Given the description of an element on the screen output the (x, y) to click on. 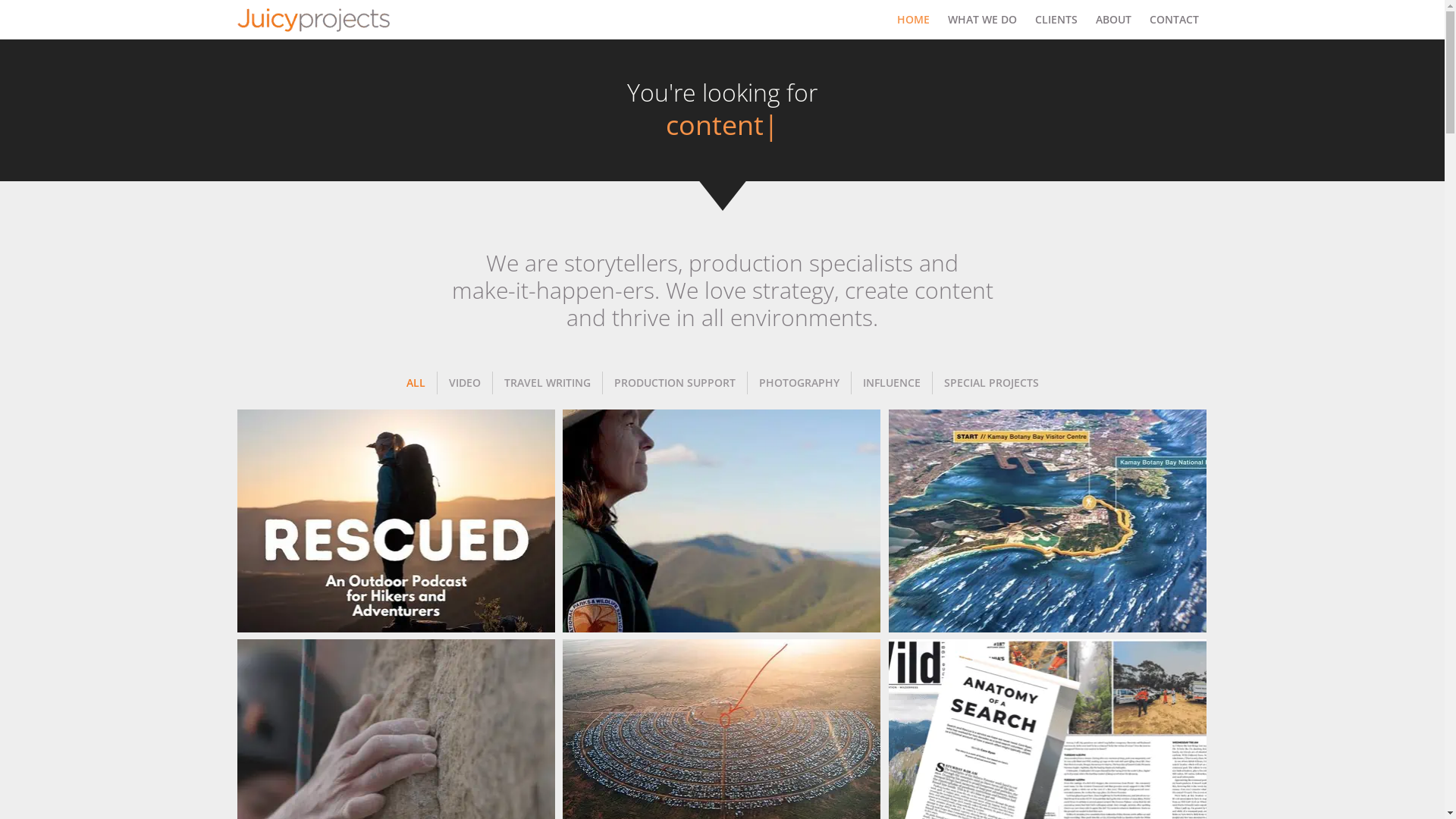
ALL Element type: text (415, 382)
Screen-Shot-2023-08-29-at-9.13.32-am-1 Element type: hover (721, 520)
PRODUCTION SUPPORT Element type: text (674, 382)
HOME Element type: text (912, 19)
Screen Shot 2023-08-29 at 10.32.12 am Element type: hover (1047, 520)
CONTACT Element type: text (1174, 19)
VIDEO Element type: text (464, 382)
Juicy Projects Element type: hover (312, 19)
CLIENTS Element type: text (1055, 19)
PHOTOGRAPHY Element type: text (799, 382)
Rescued Podcast - Rescued Cover Element type: hover (395, 520)
TRAVEL WRITING Element type: text (547, 382)
ABOUT Element type: text (1112, 19)
INFLUENCE Element type: text (890, 382)
WHAT WE DO Element type: text (982, 19)
Juicy Projects Element type: hover (316, 19)
SPECIAL PROJECTS Element type: text (991, 382)
